Given the description of an element on the screen output the (x, y) to click on. 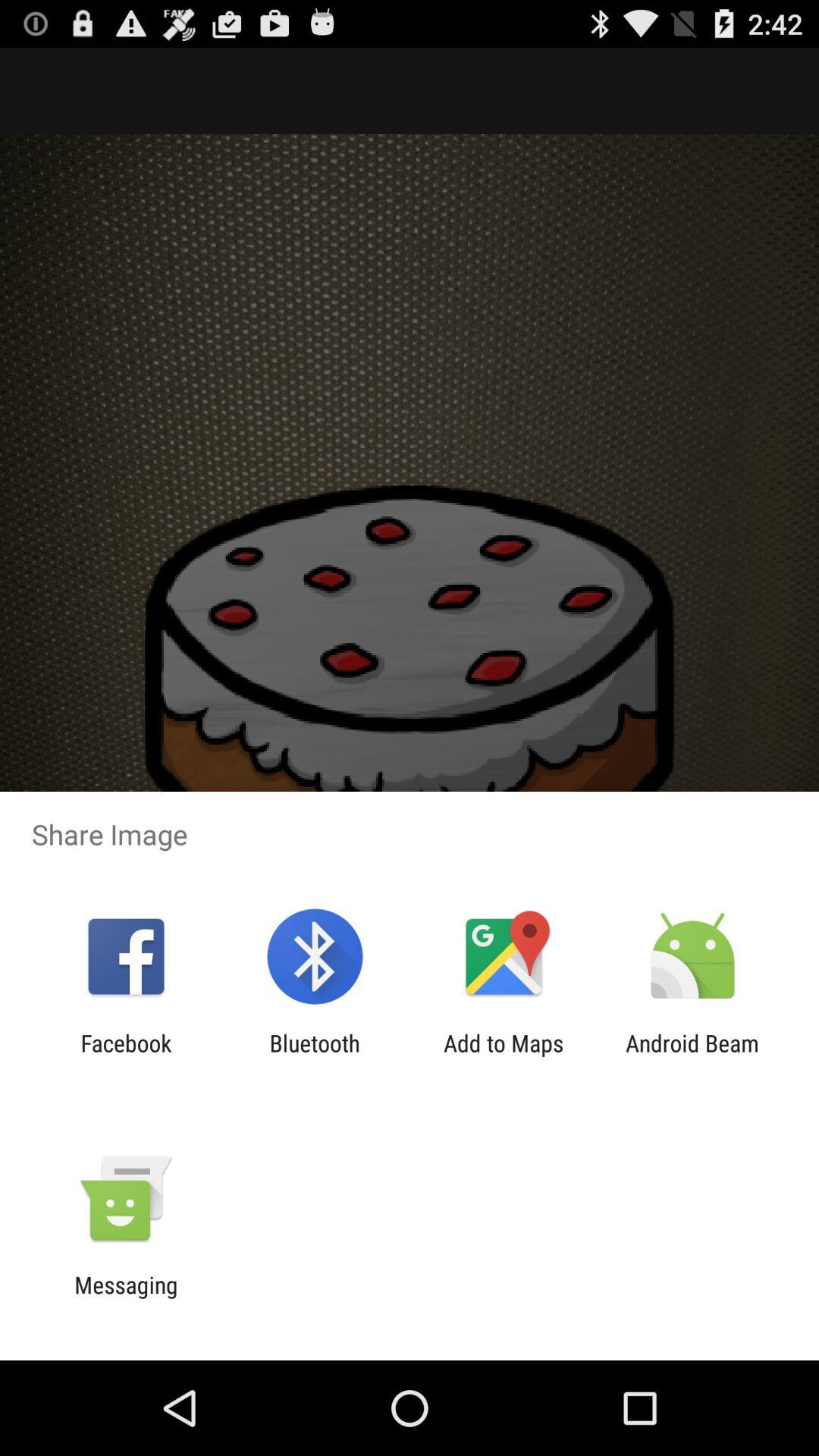
turn off the app to the left of the add to maps (314, 1056)
